Given the description of an element on the screen output the (x, y) to click on. 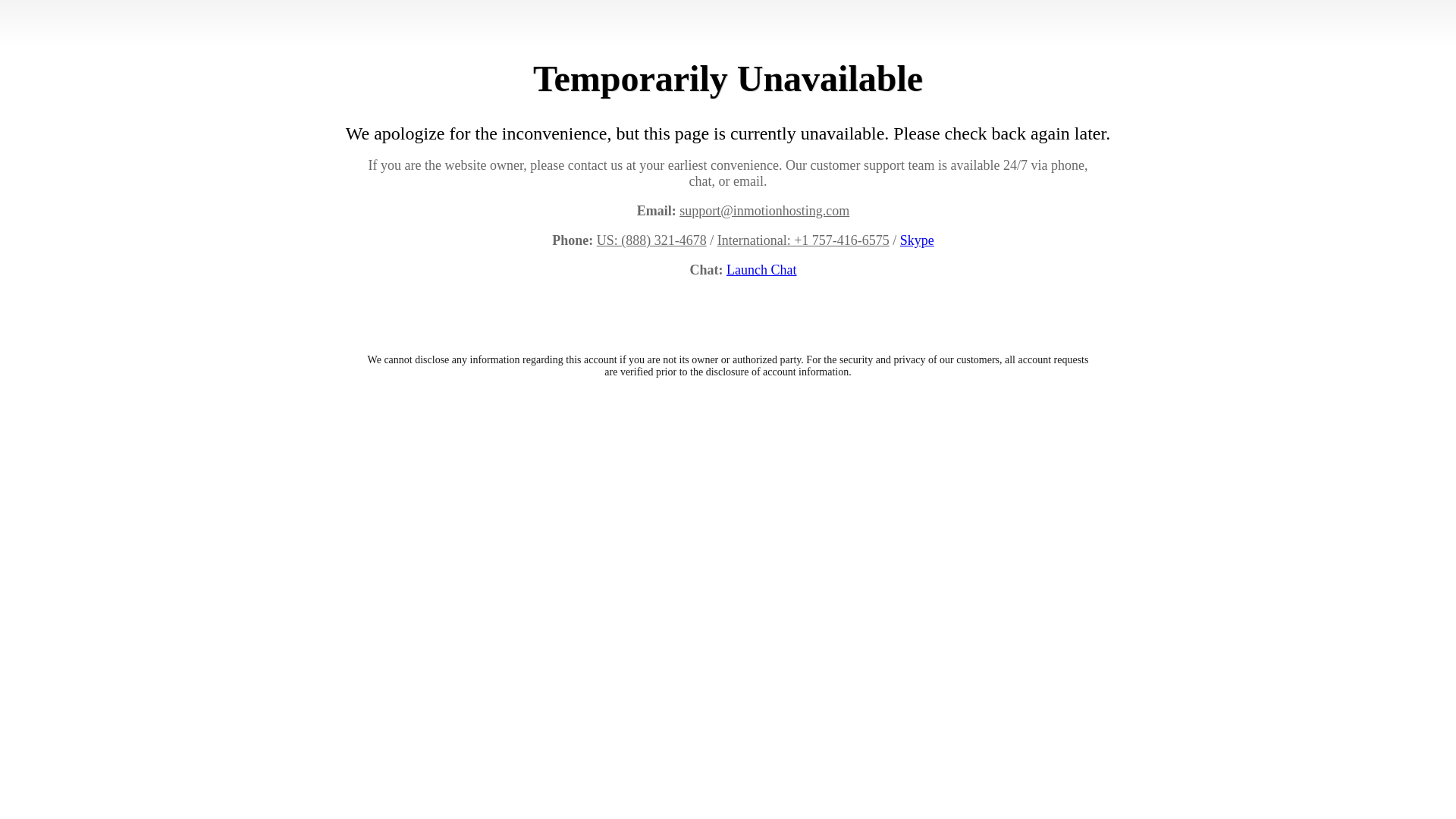
Skype (916, 240)
Launch Chat (761, 269)
